Given the description of an element on the screen output the (x, y) to click on. 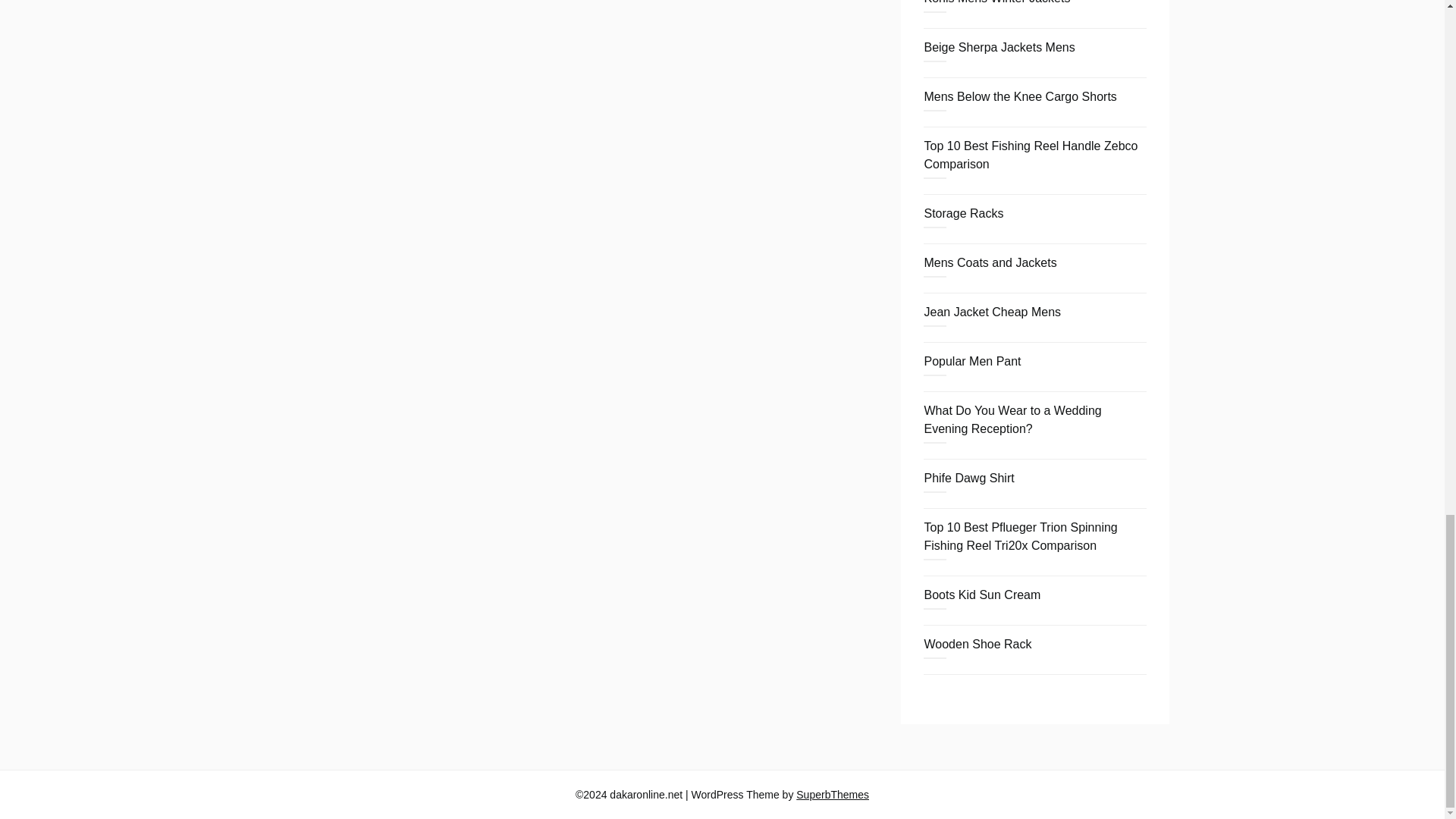
Mens Below the Knee Cargo Shorts (1019, 96)
Wooden Shoe Rack (976, 644)
Kohls Mens Winter Jackets (996, 2)
Jean Jacket Cheap Mens (992, 311)
Popular Men Pant (971, 360)
Mens Coats and Jackets (990, 262)
Phife Dawg Shirt (968, 477)
SuperbThemes (832, 794)
Beige Sherpa Jackets Mens (998, 47)
